Given the description of an element on the screen output the (x, y) to click on. 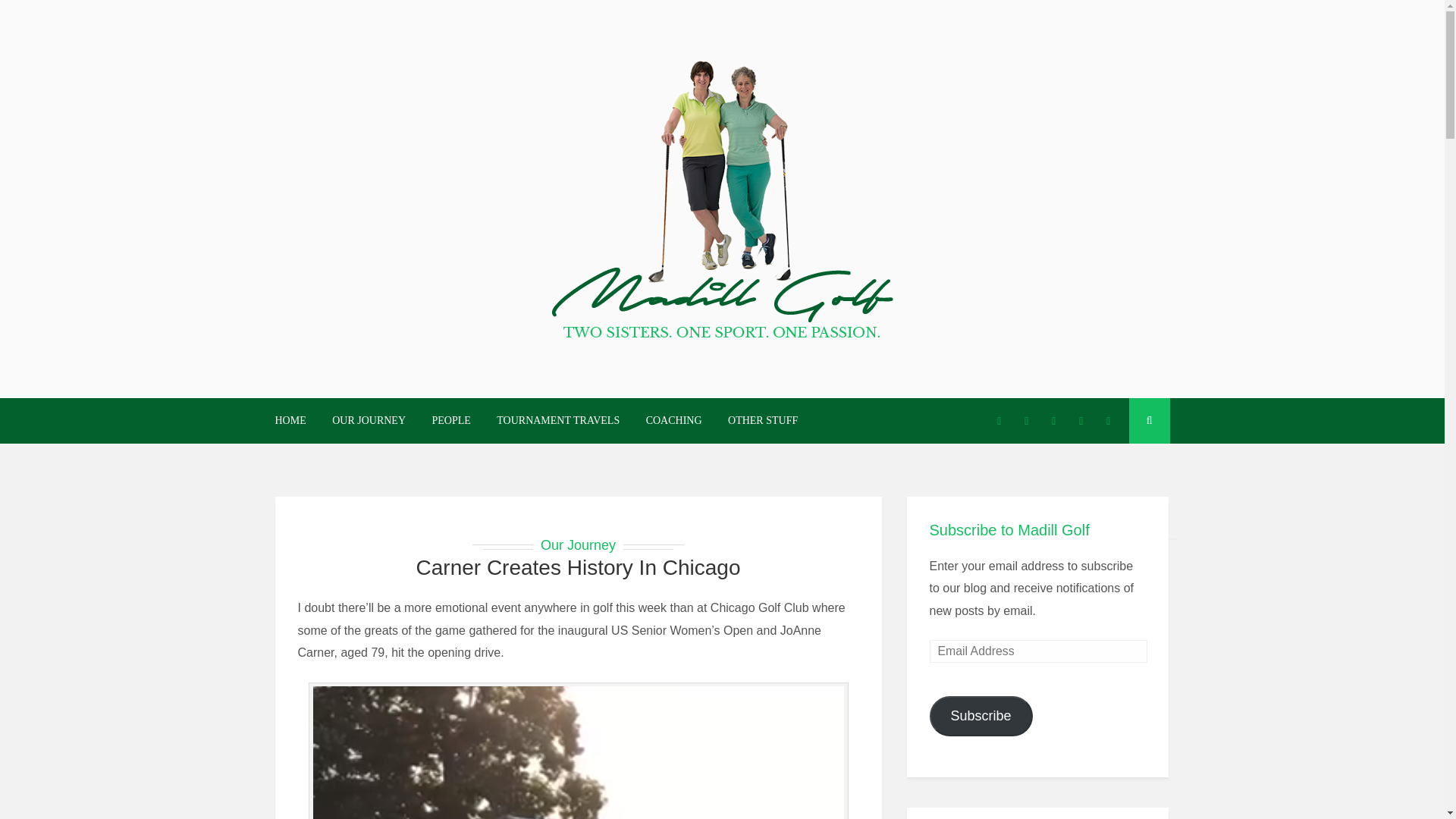
Our Journey (577, 544)
TOURNAMENT TRAVELS (557, 422)
COACHING (673, 422)
Carner Creates History In Chicago (578, 567)
PEOPLE (450, 422)
OUR JOURNEY (368, 422)
OTHER STUFF (762, 422)
Permanent Link to Carner Creates History In Chicago (578, 567)
